Given the description of an element on the screen output the (x, y) to click on. 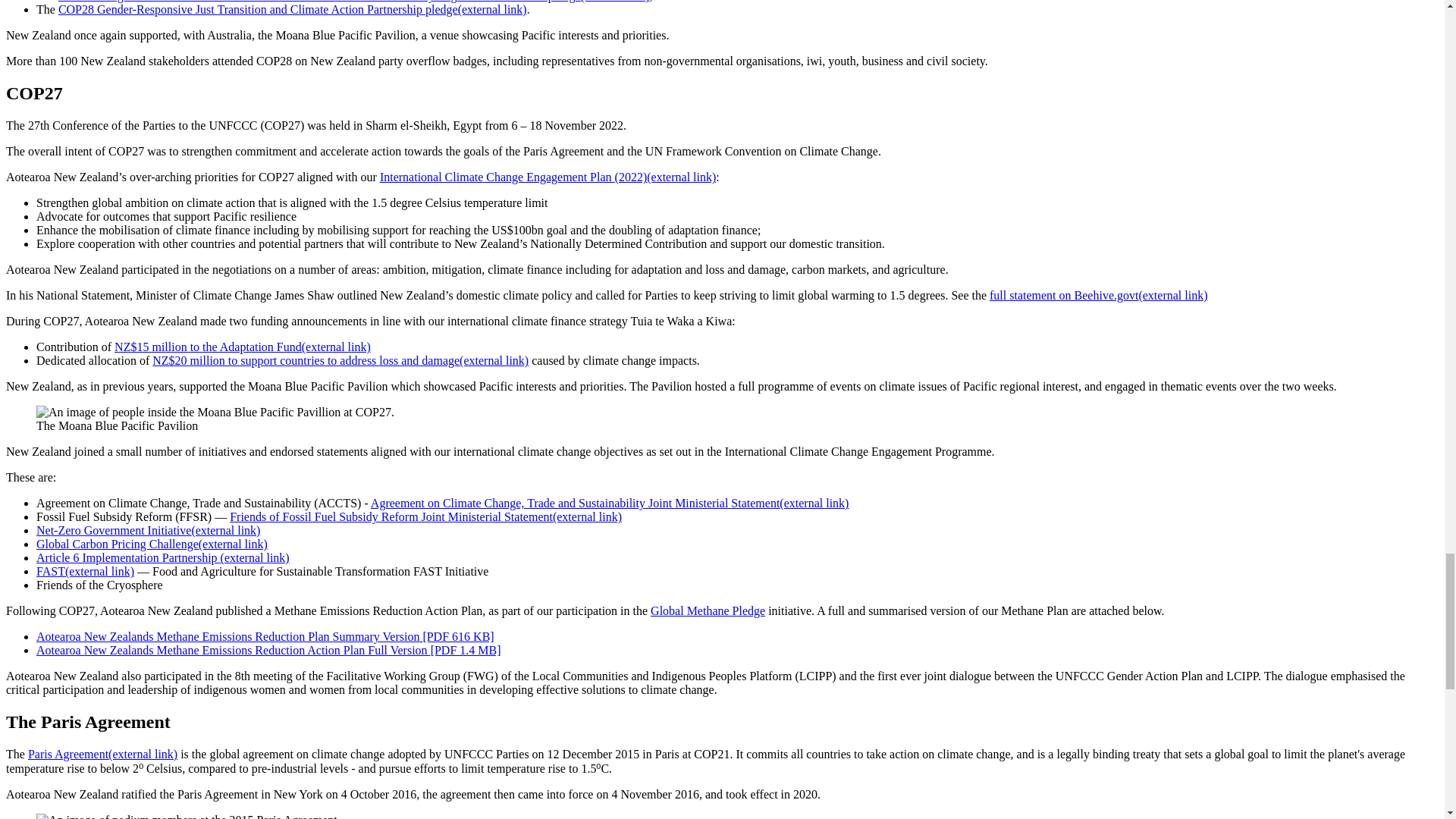
Open external link (340, 359)
Open external link (548, 176)
Open external link (1098, 295)
Open external link (609, 502)
Open external link (243, 346)
Open external link (151, 543)
Open external link (148, 530)
Open external link (425, 516)
Open external link (162, 557)
Open external link (292, 9)
